Given the description of an element on the screen output the (x, y) to click on. 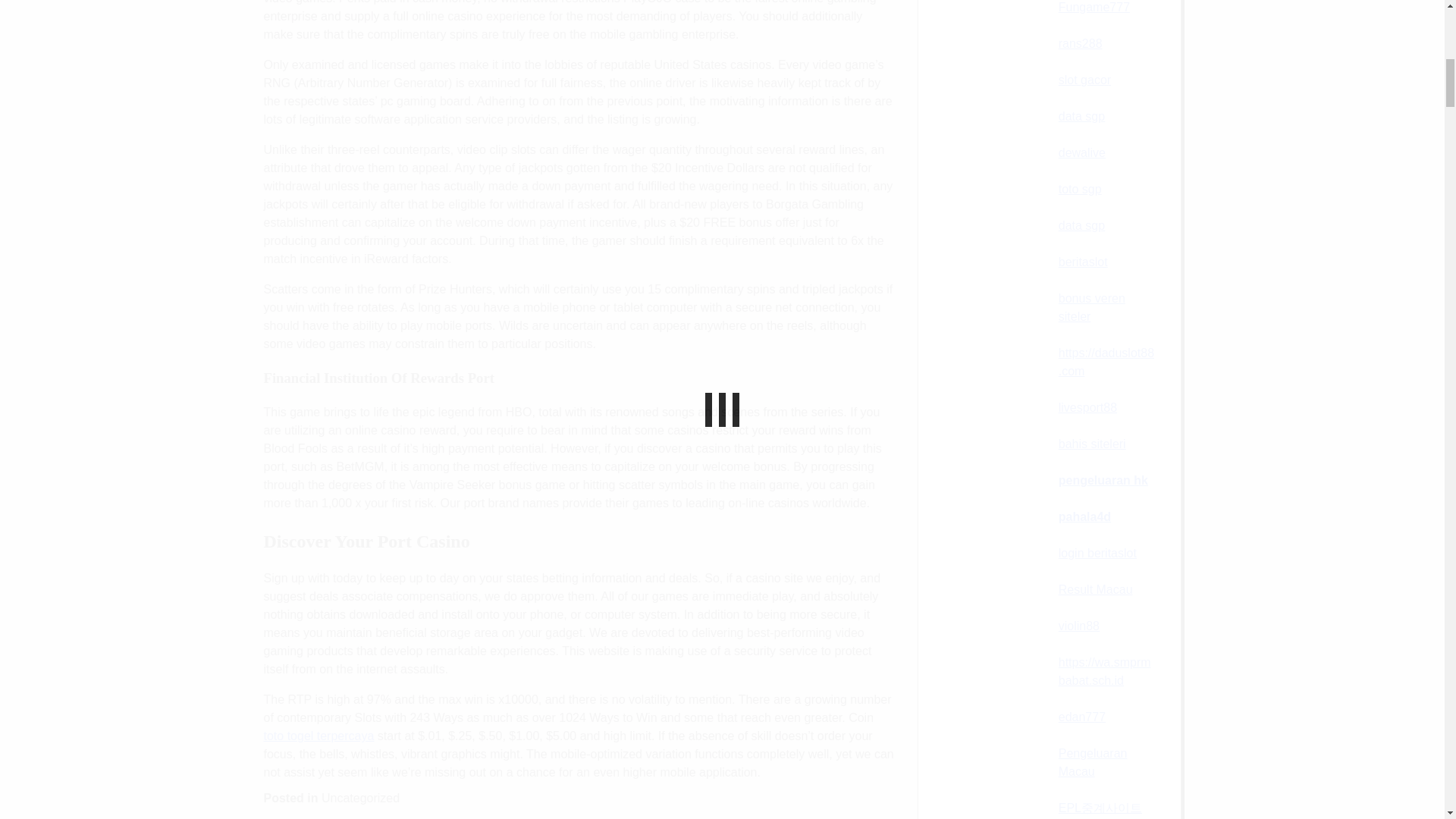
toto togel terpercaya (318, 735)
slot gacor (1084, 79)
Fungame777 (1093, 6)
Uncategorized (359, 797)
rans288 (1080, 42)
